Given the description of an element on the screen output the (x, y) to click on. 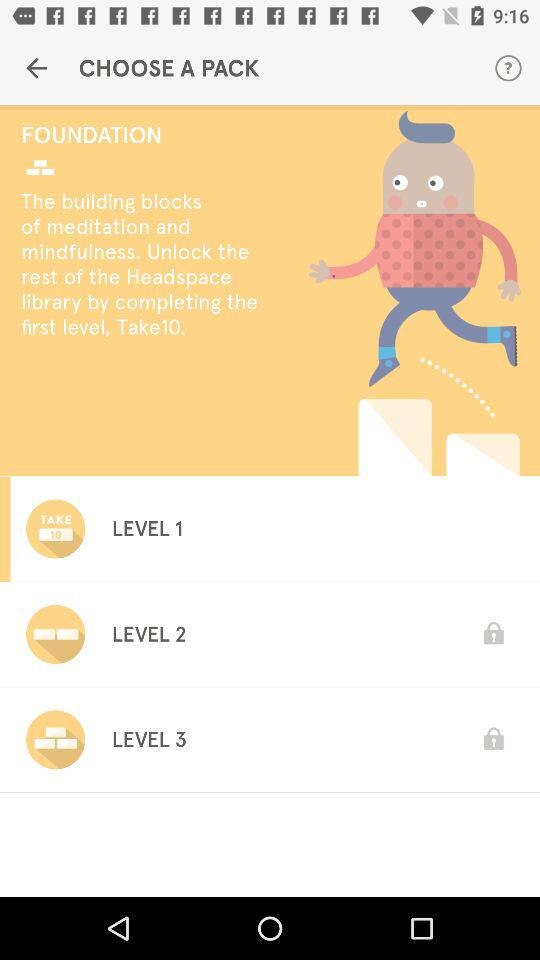
tap level 2 (148, 634)
